Given the description of an element on the screen output the (x, y) to click on. 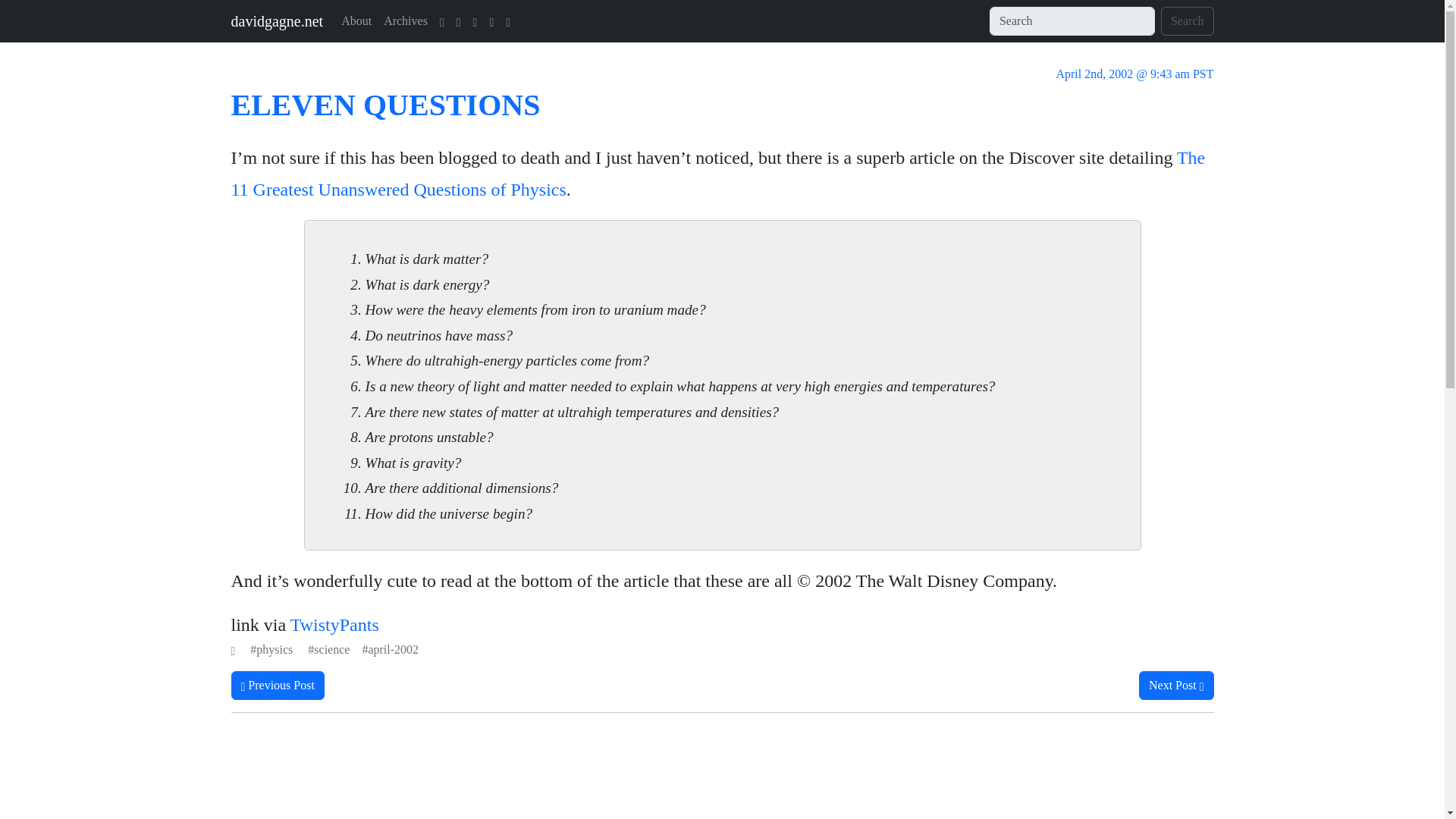
The 11 Greatest Unanswered Questions of Physics (717, 173)
101 posts (328, 649)
ELEVEN QUESTIONS (385, 104)
12 posts (271, 649)
TwistyPants (333, 624)
blog (333, 624)
About (355, 20)
from Discover magazine (717, 173)
Search (1187, 21)
davidgagne.net (276, 20)
Archives (1176, 685)
All About Me (405, 20)
more posts from April 2002 (355, 20)
Thousands of Old Posts (390, 649)
